Given the description of an element on the screen output the (x, y) to click on. 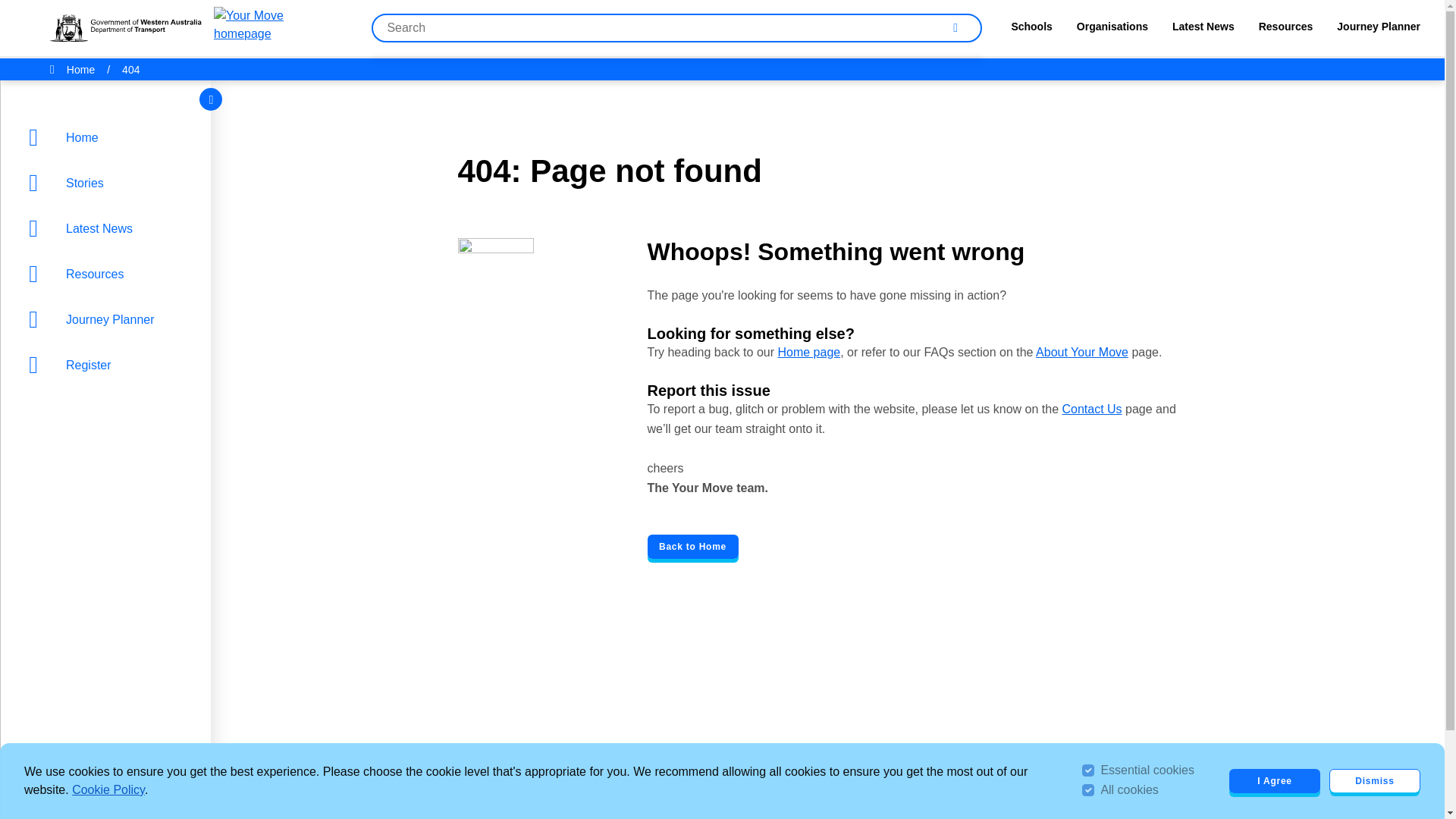
Latest News (1203, 28)
toggle sidebar navigation (210, 98)
Home page (808, 351)
Stories (109, 182)
Home (80, 69)
Organisations (1112, 28)
Resources (109, 273)
Register (109, 364)
Schools (1030, 28)
Resources (109, 273)
